Given the description of an element on the screen output the (x, y) to click on. 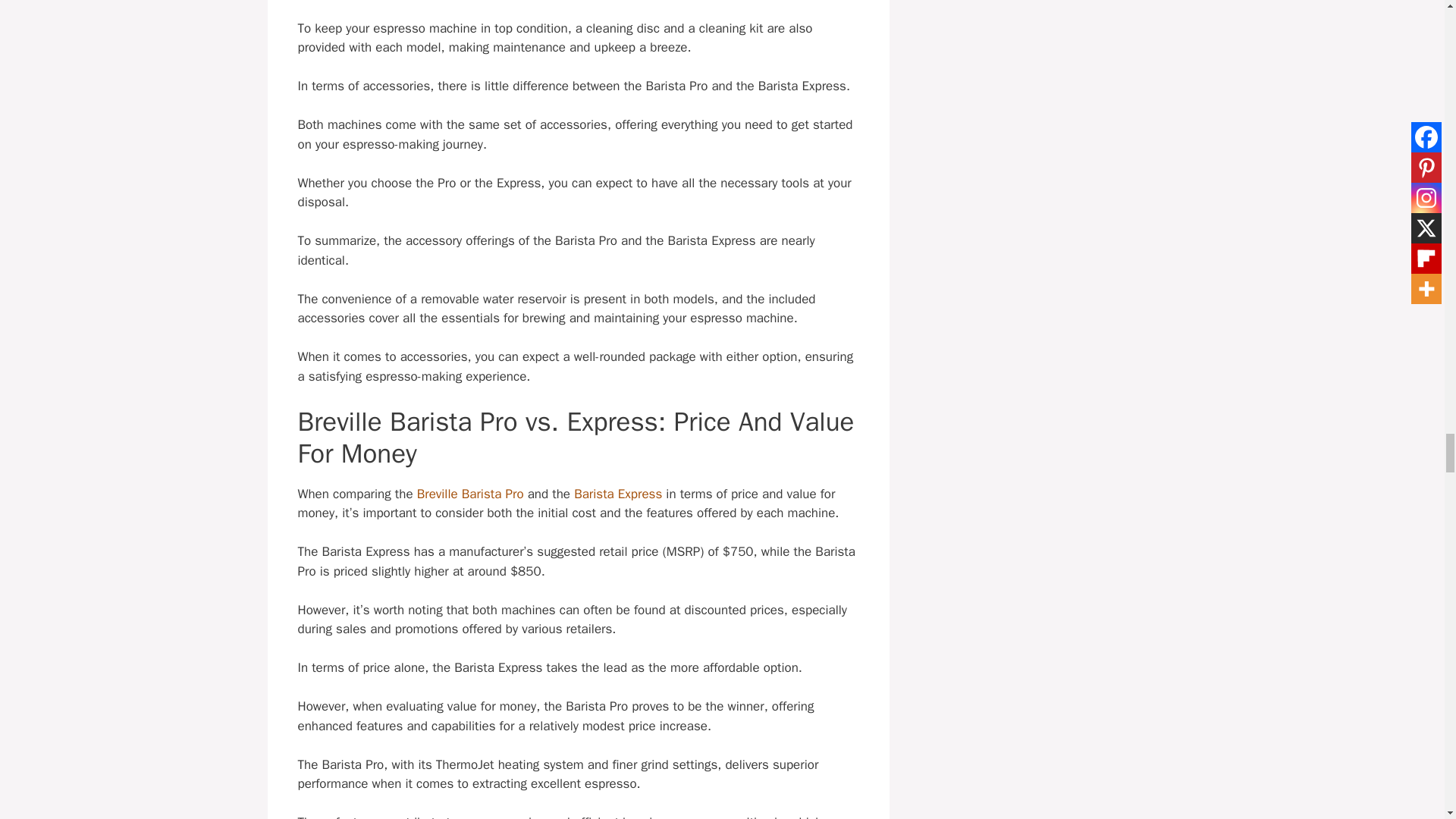
Breville Barista Pro (470, 494)
Barista Express (617, 494)
